Given the description of an element on the screen output the (x, y) to click on. 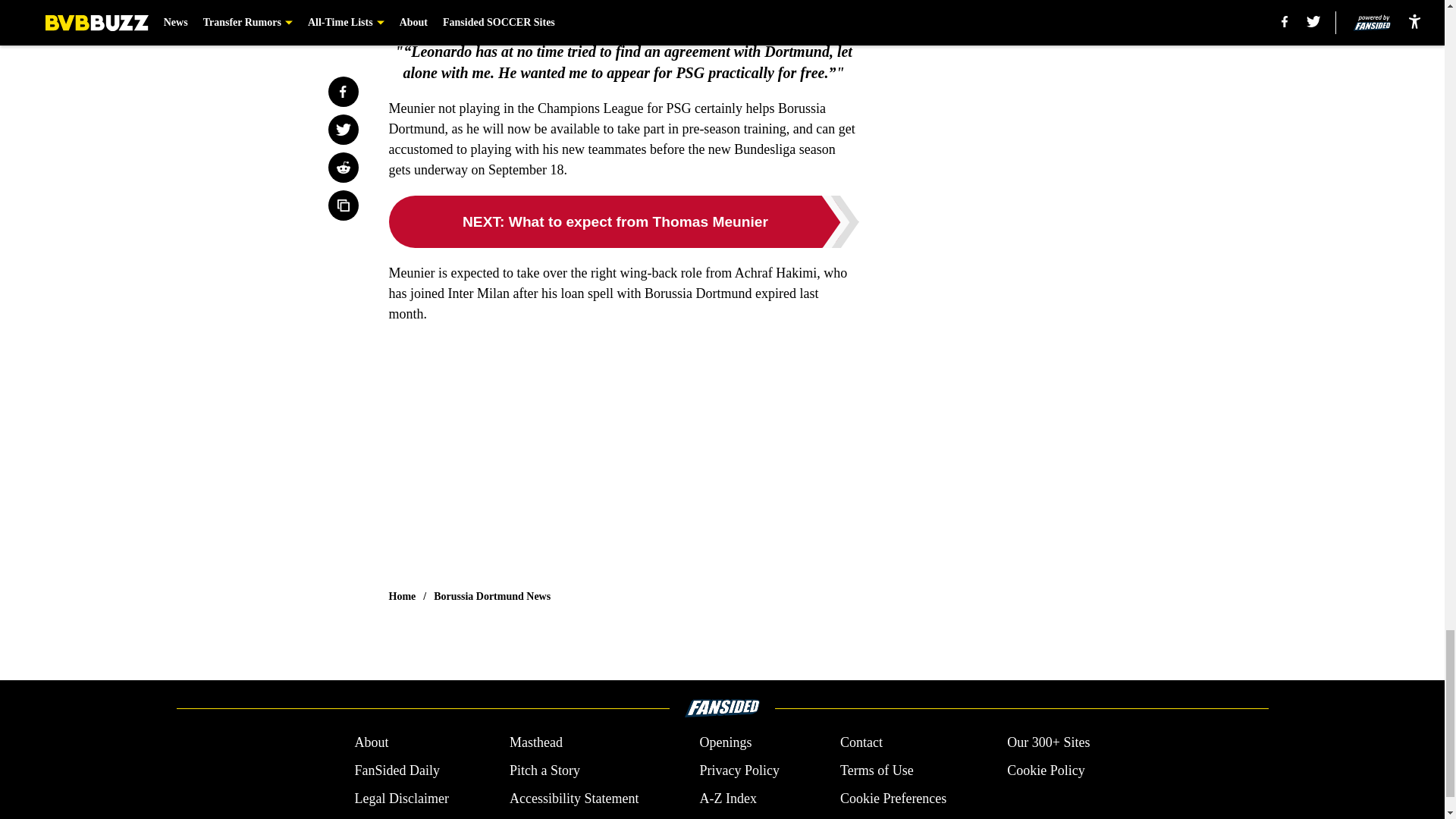
Cookie Preferences (893, 798)
Privacy Policy (738, 770)
FanSided Daily (396, 770)
Home (401, 596)
Masthead (535, 742)
Cookie Policy (1045, 770)
Openings (724, 742)
About (370, 742)
Accessibility Statement (574, 798)
A-Z Index (726, 798)
Pitch a Story (544, 770)
Contact (861, 742)
Legal Disclaimer (400, 798)
NEXT: What to expect from Thomas Meunier (623, 221)
Borussia Dortmund News (491, 596)
